Given the description of an element on the screen output the (x, y) to click on. 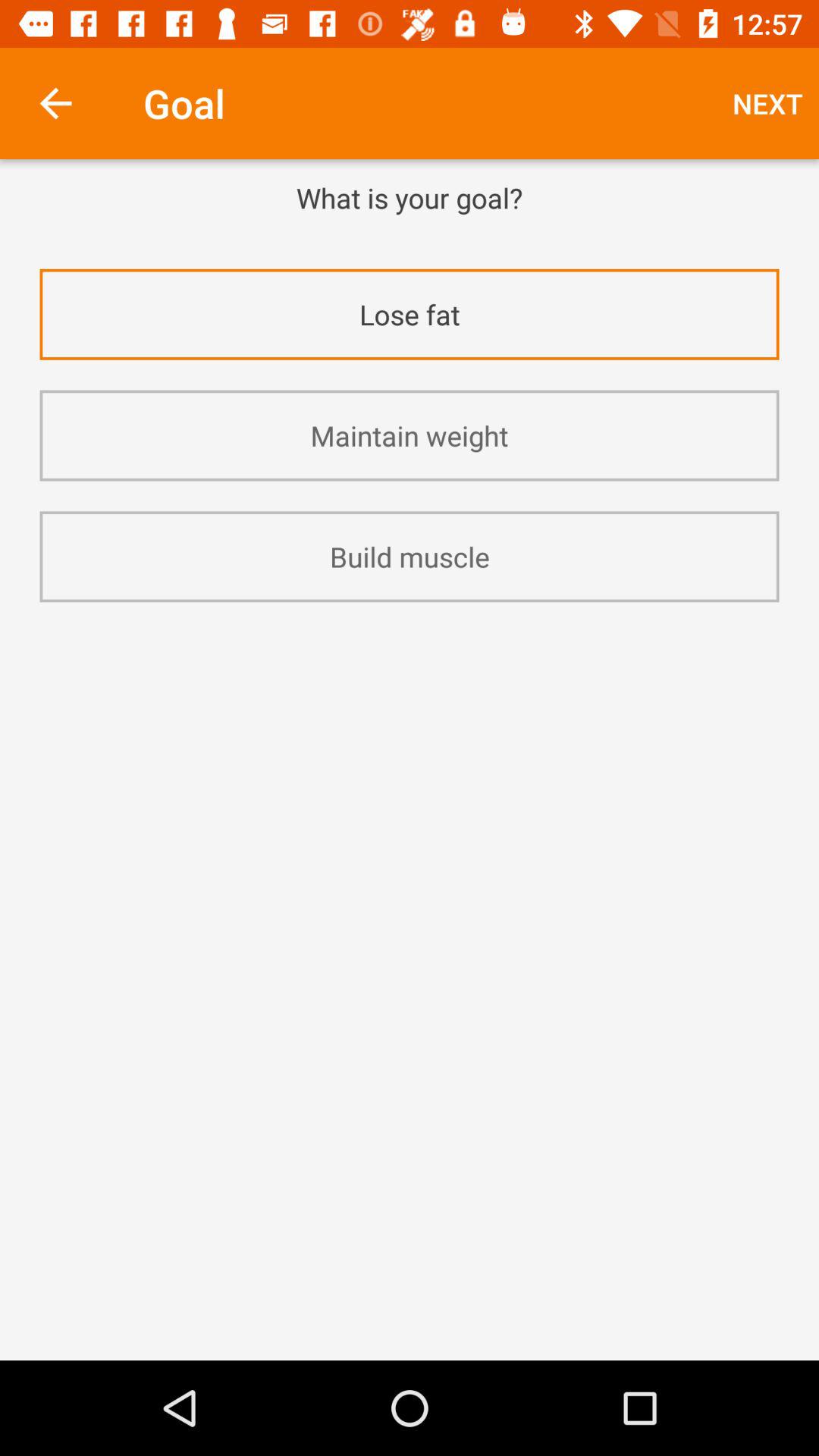
select the maintain weight item (409, 435)
